Given the description of an element on the screen output the (x, y) to click on. 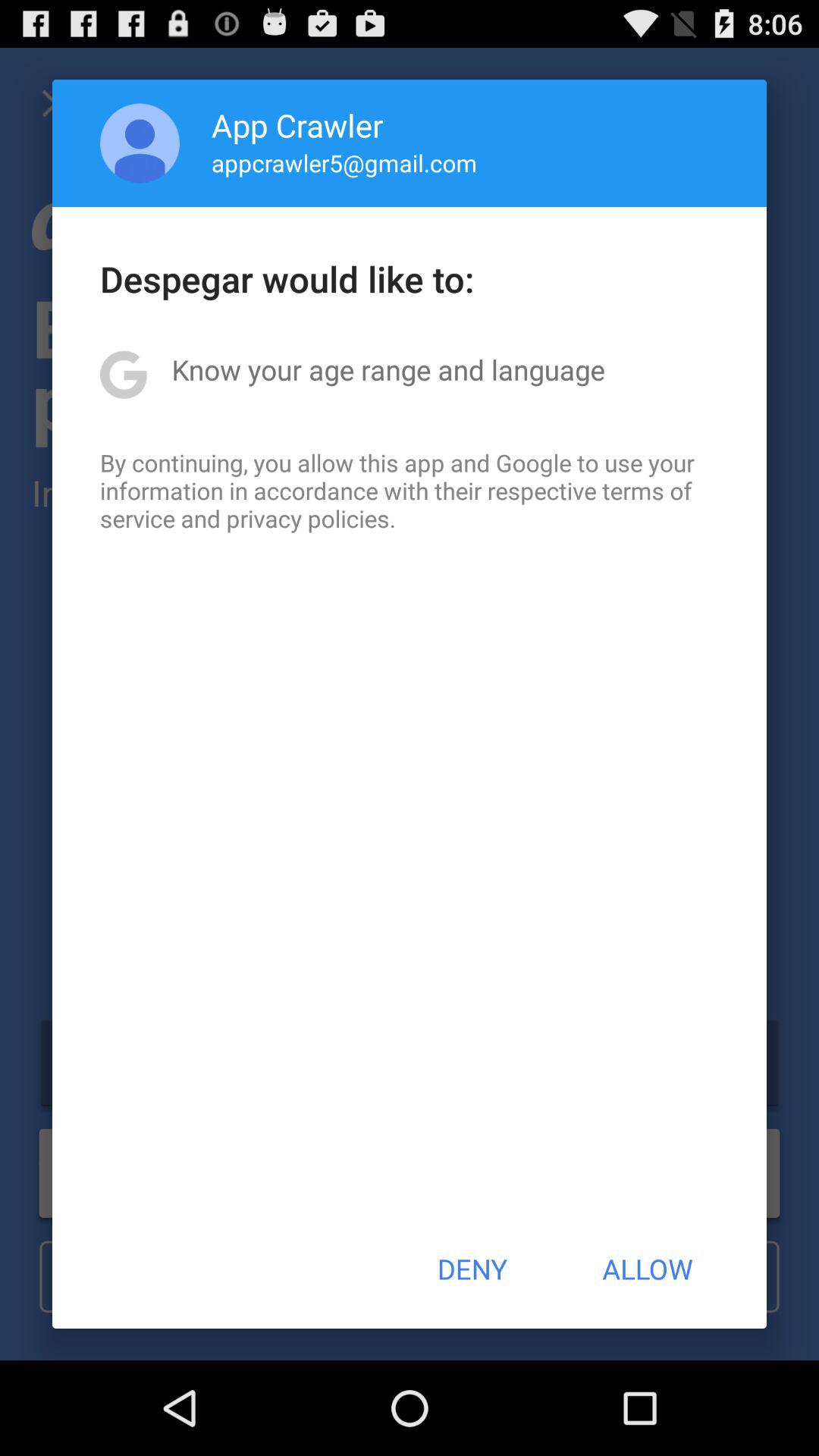
select the button next to allow icon (471, 1268)
